Given the description of an element on the screen output the (x, y) to click on. 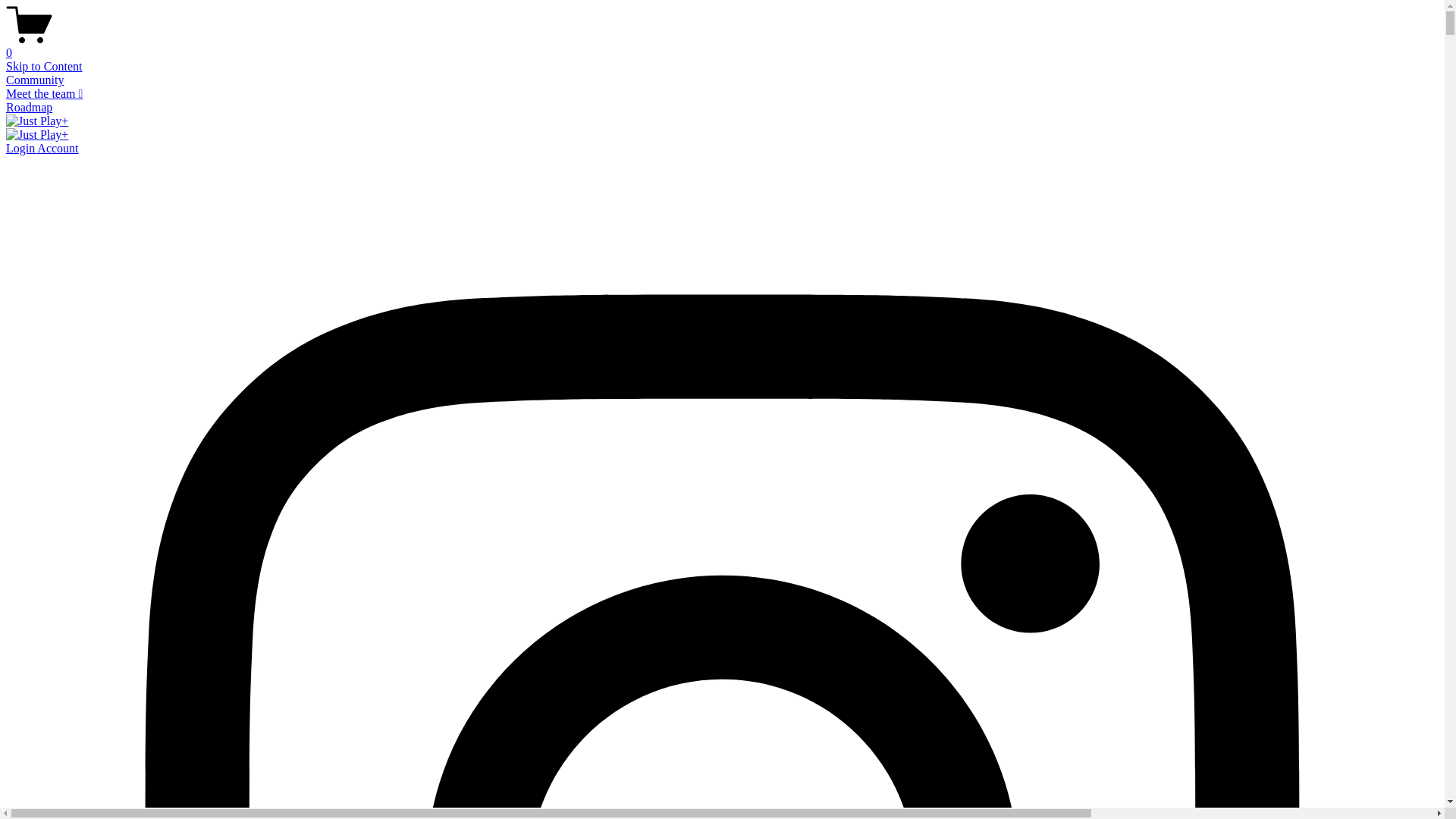
0 Element type: text (722, 45)
Roadmap Element type: text (29, 106)
Login Account Element type: text (42, 147)
Community Element type: text (34, 79)
Skip to Content Element type: text (43, 65)
